Given the description of an element on the screen output the (x, y) to click on. 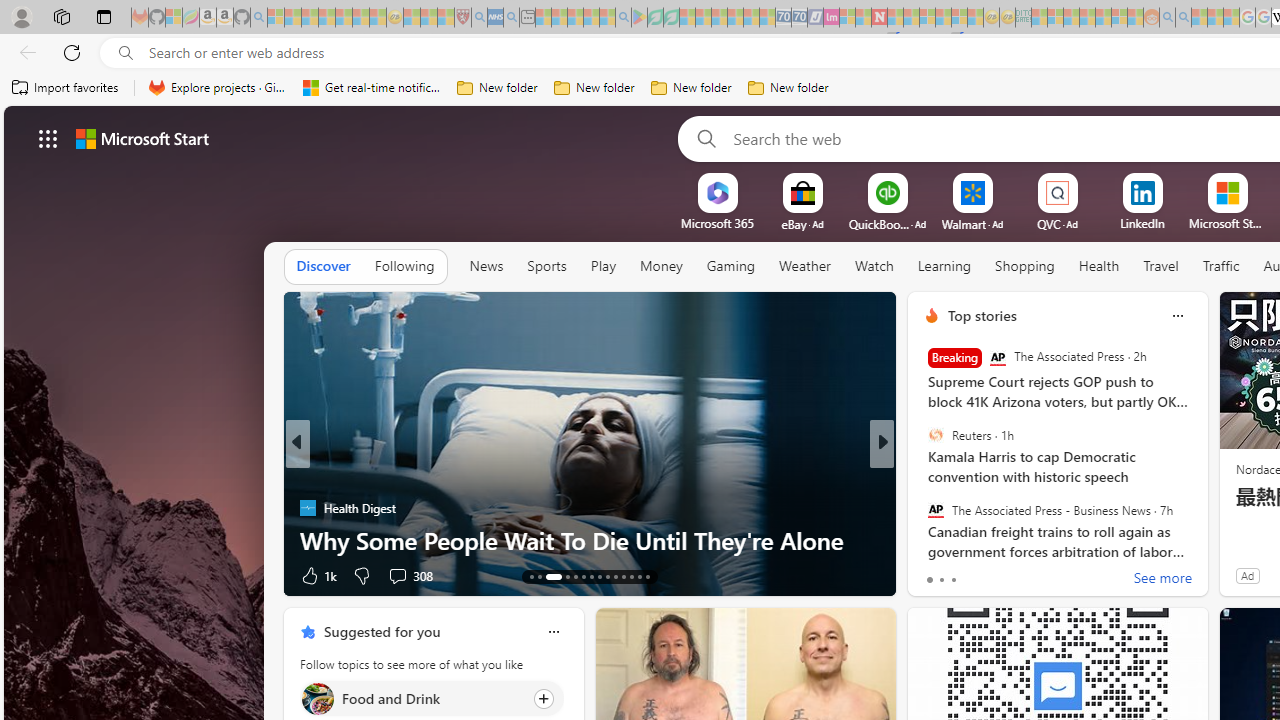
Trusted Community Engagement and Contributions | Guidelines (895, 17)
Traffic (1220, 265)
The Associated Press (997, 358)
Play (602, 265)
Search icon (125, 53)
utah sues federal government - Search - Sleeping (511, 17)
Cheap Car Rentals - Save70.com - Sleeping (783, 17)
View comments 31 Comment (1029, 574)
AutomationID: tab-22 (614, 576)
